Given the description of an element on the screen output the (x, y) to click on. 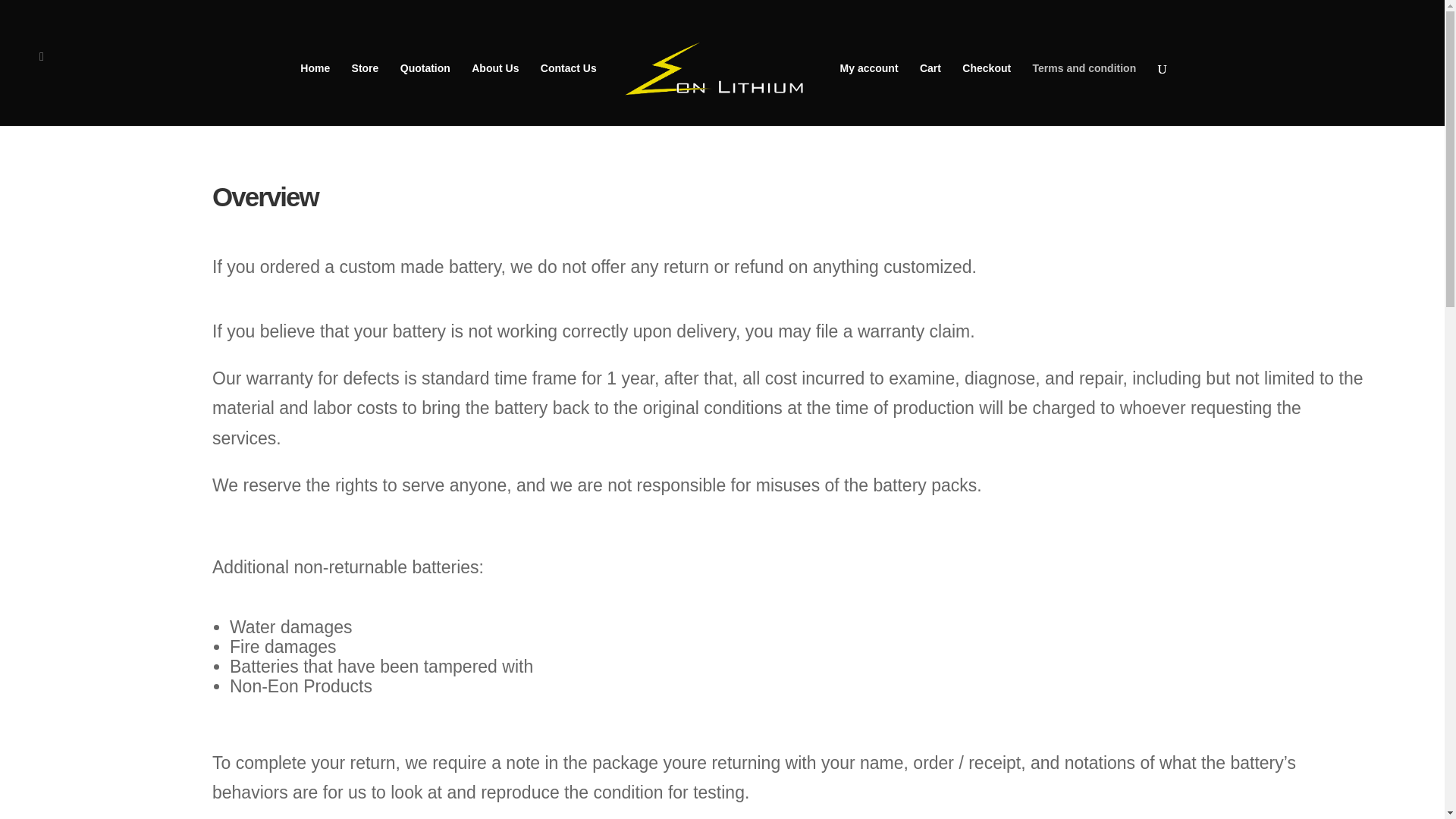
Contact Us (568, 94)
Cart (930, 94)
Quotation (424, 94)
My account (869, 94)
Terms and condition (1084, 94)
About Us (494, 94)
Checkout (986, 94)
Home (314, 94)
Store (365, 94)
